Given the description of an element on the screen output the (x, y) to click on. 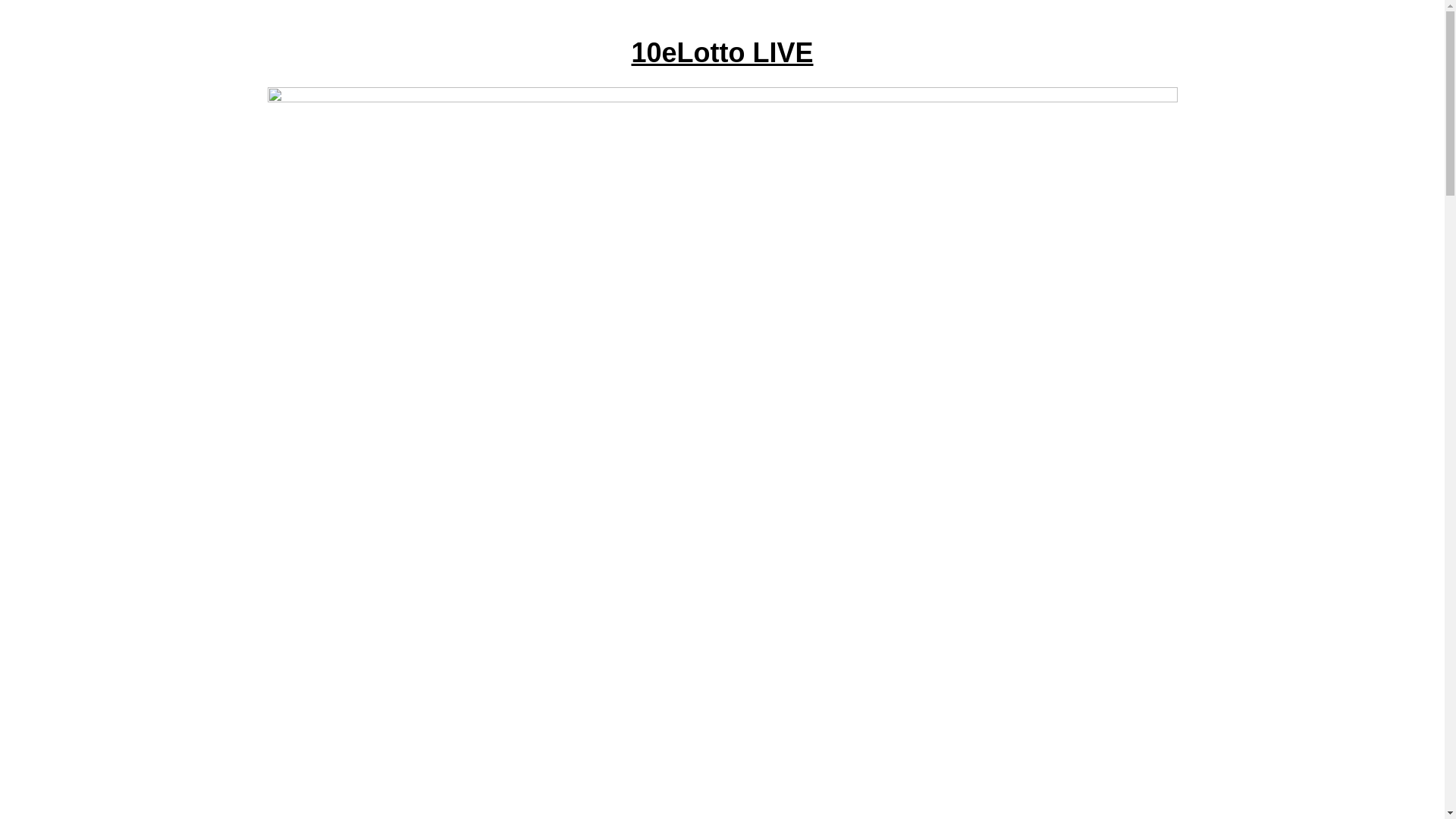
10eLotto LIVE Element type: text (721, 52)
